Given the description of an element on the screen output the (x, y) to click on. 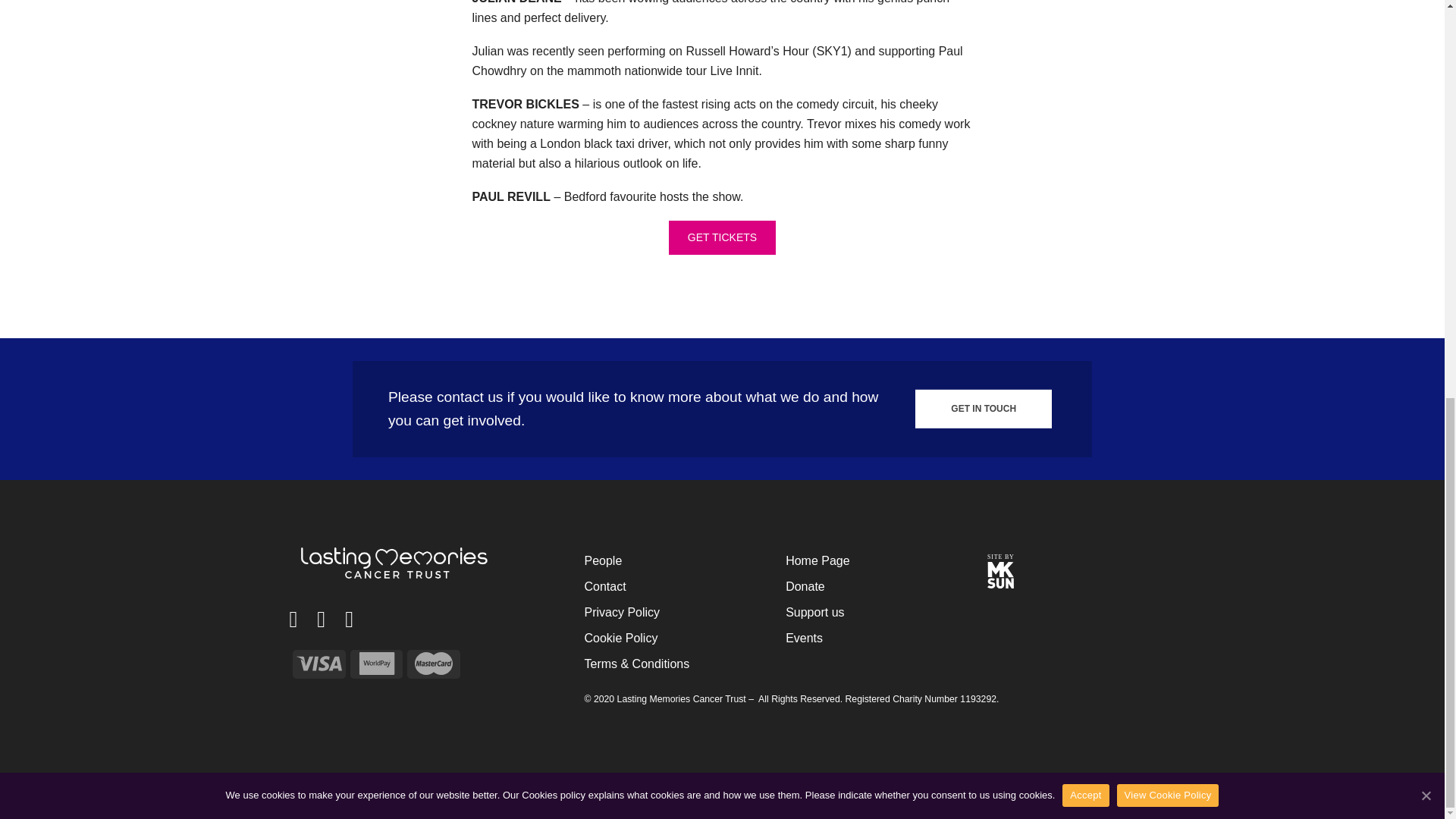
GET TICKETS (722, 237)
Lasting Memories Cancer Trust (395, 562)
GET IN TOUCH (983, 408)
